Given the description of an element on the screen output the (x, y) to click on. 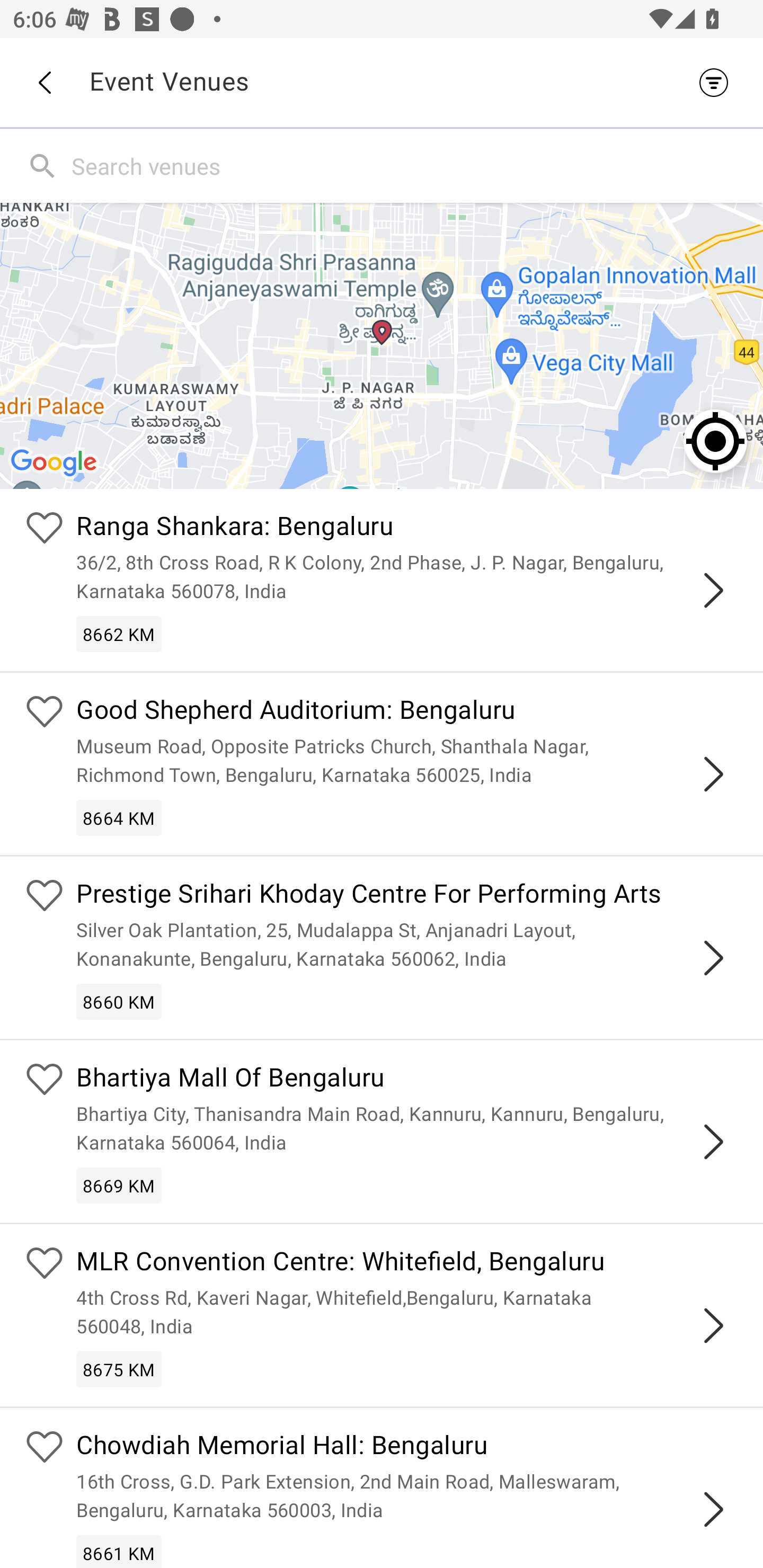
Back Event Venues Filter (381, 82)
Filter (718, 82)
Back (44, 82)
Search venues (413, 165)
Google Map Ranga Shankara: Bengaluru (381, 345)
Ranga Shankara: Bengaluru (406, 528)
 (713, 590)
8662 KM (118, 634)
Good Shepherd Auditorium: Bengaluru (406, 711)
 (713, 773)
8664 KM (118, 817)
Prestige Srihari Khoday Centre For Performing Arts (406, 894)
 (713, 957)
8660 KM (118, 1001)
Bhartiya Mall Of Bengaluru (406, 1079)
 (713, 1141)
8669 KM (118, 1186)
MLR Convention Centre: Whitefield, Bengaluru (406, 1263)
 (713, 1325)
8675 KM (118, 1369)
Chowdiah Memorial Hall: Bengaluru (406, 1446)
 (713, 1508)
8661 KM (118, 1551)
